Given the description of an element on the screen output the (x, y) to click on. 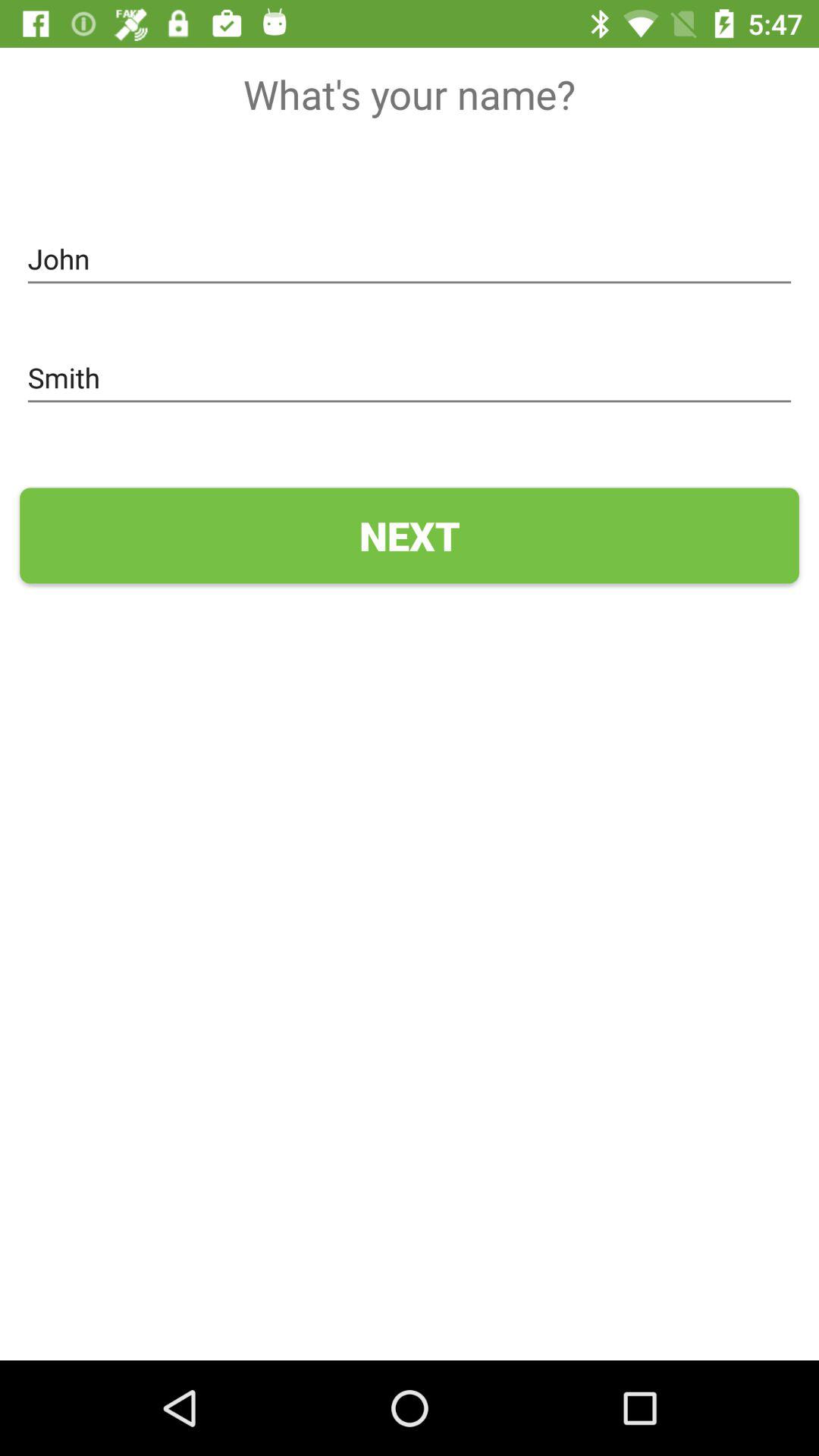
open the icon above the next icon (409, 378)
